Given the description of an element on the screen output the (x, y) to click on. 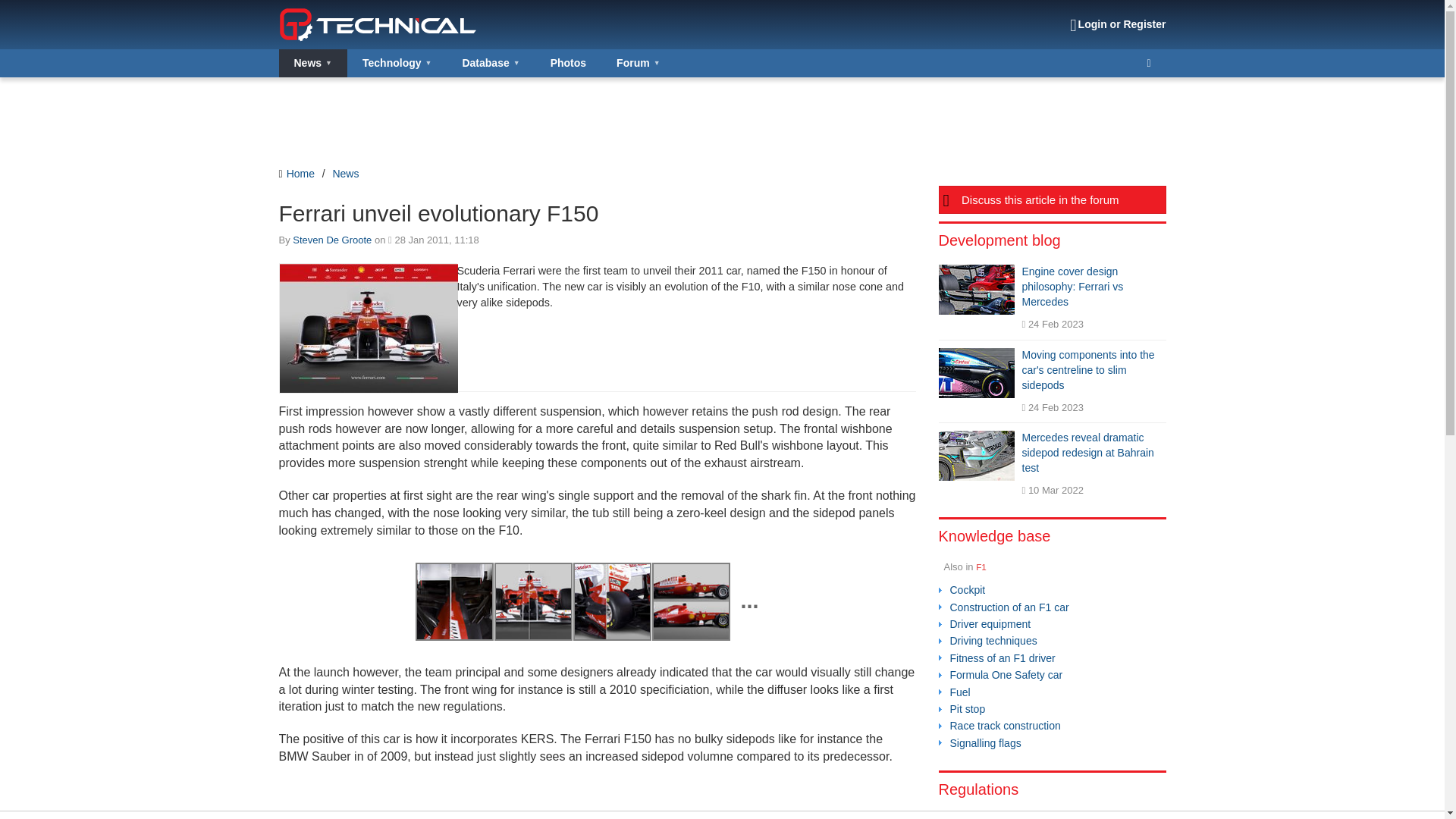
Steven De Groote (331, 239)
Home (296, 173)
next (904, 814)
Login (1118, 24)
Photos (568, 62)
Engine cover design philosophy: Ferrari vs Mercedes (976, 289)
Mercedes reveal dramatic sidepod redesign at Bahrain test (976, 455)
News (344, 173)
Home (296, 173)
McLaren also reshuffles engineering department (864, 814)
